Given the description of an element on the screen output the (x, y) to click on. 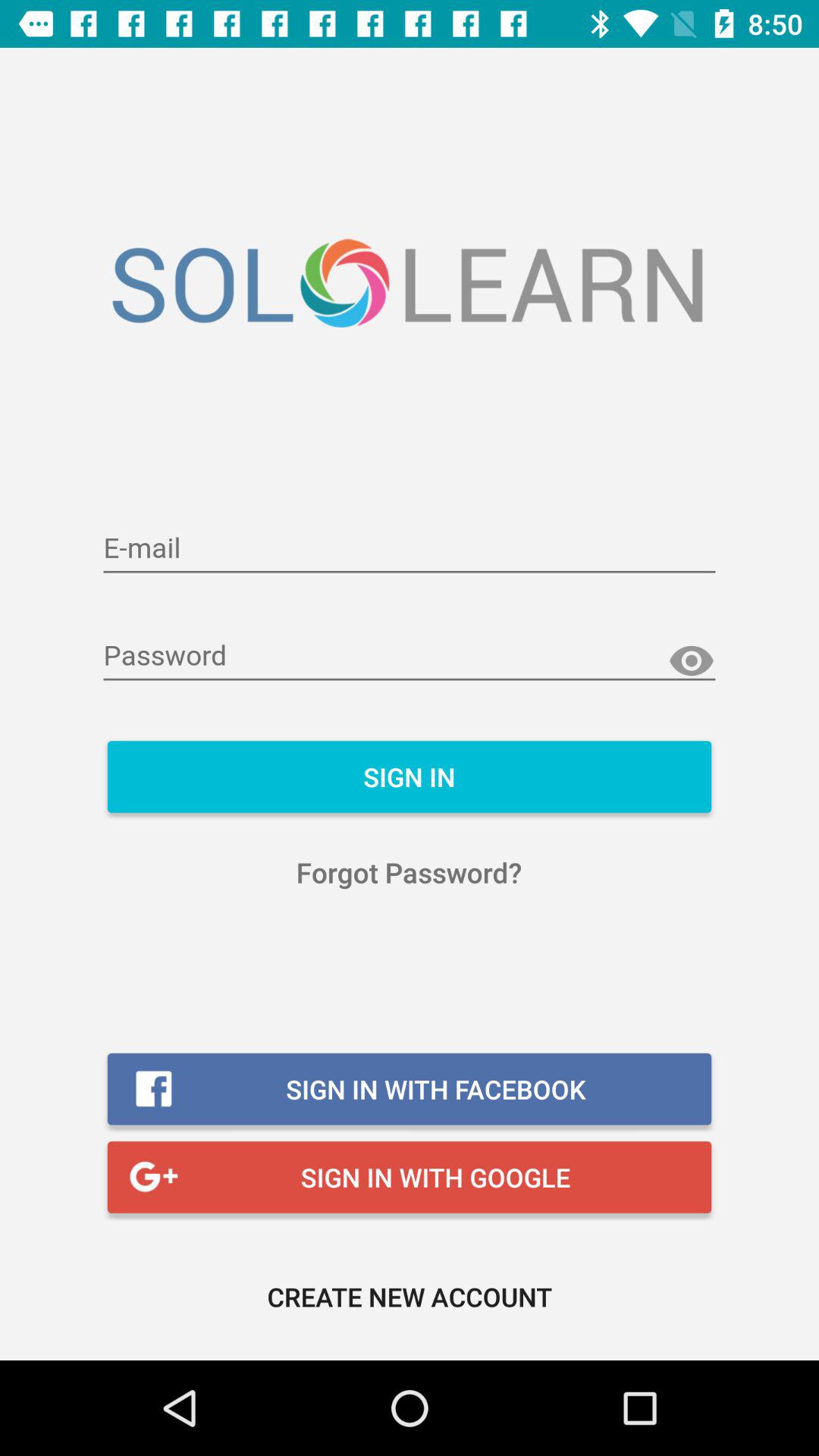
write email (409, 548)
